Given the description of an element on the screen output the (x, y) to click on. 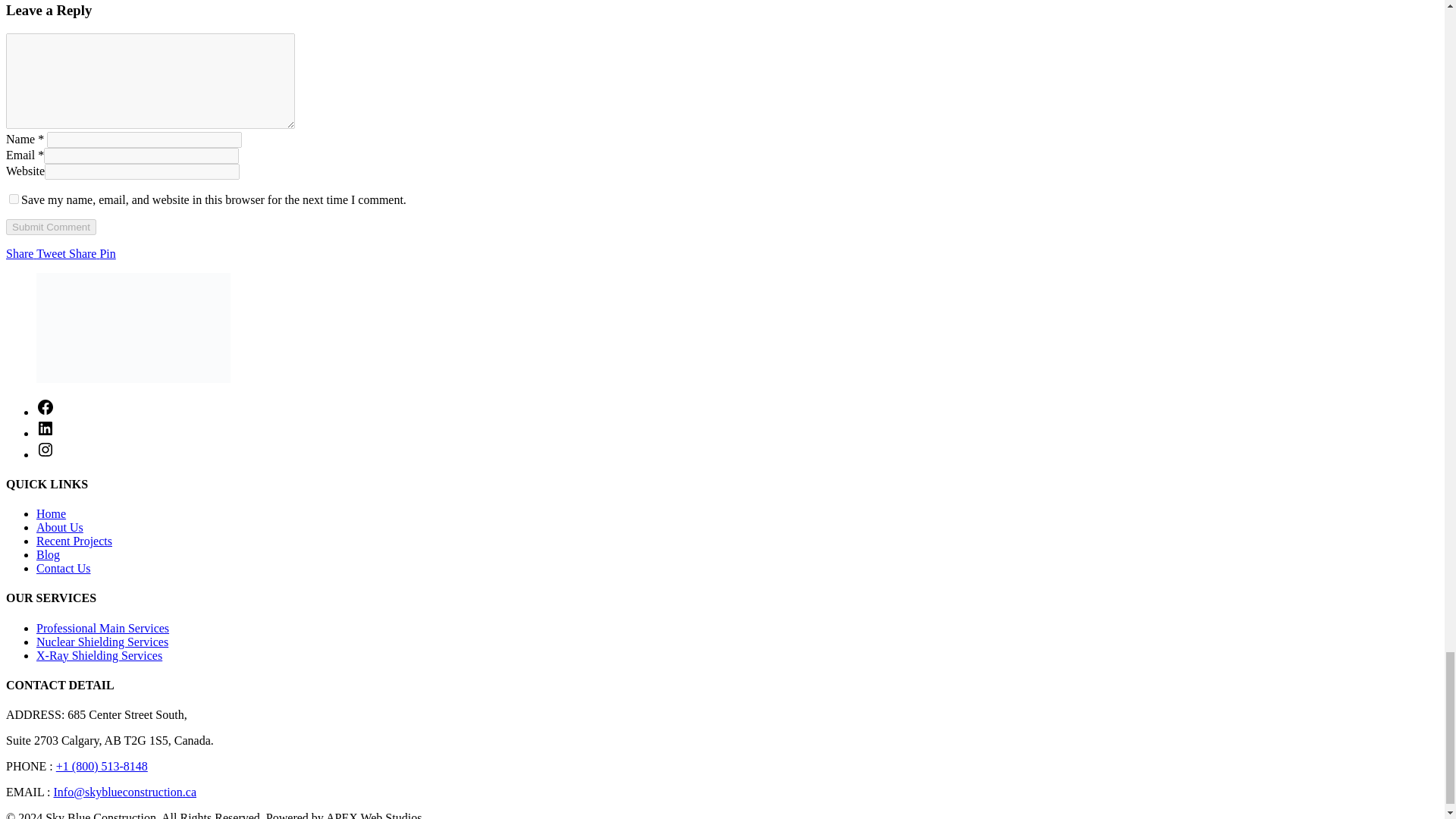
Tweet (52, 253)
LinkedIn (45, 432)
Share (83, 253)
Submit Comment (50, 227)
Submit Comment (50, 227)
yes (13, 198)
Share this (20, 253)
Tweet this (52, 253)
Facebook (45, 411)
Pin this (107, 253)
